Given the description of an element on the screen output the (x, y) to click on. 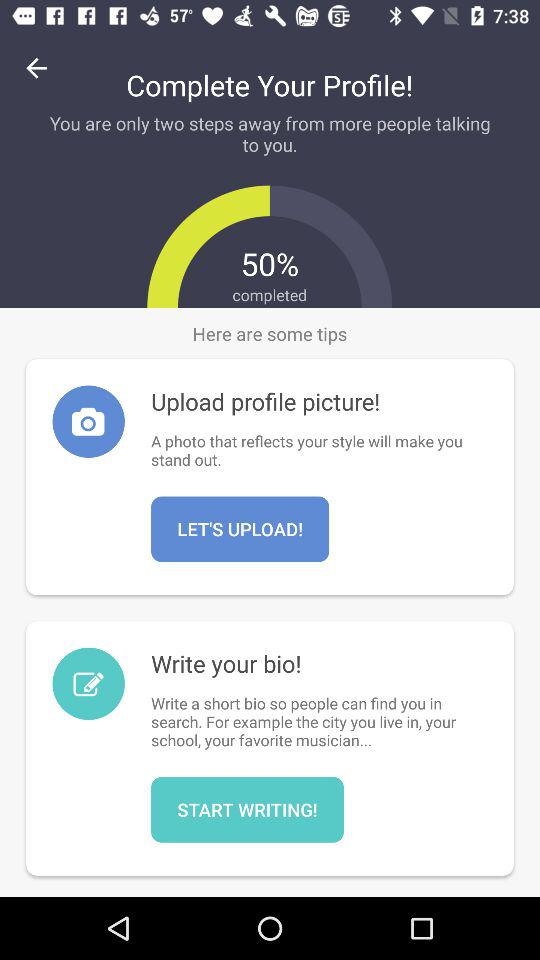
click the icon above the write your bio! icon (240, 529)
